Given the description of an element on the screen output the (x, y) to click on. 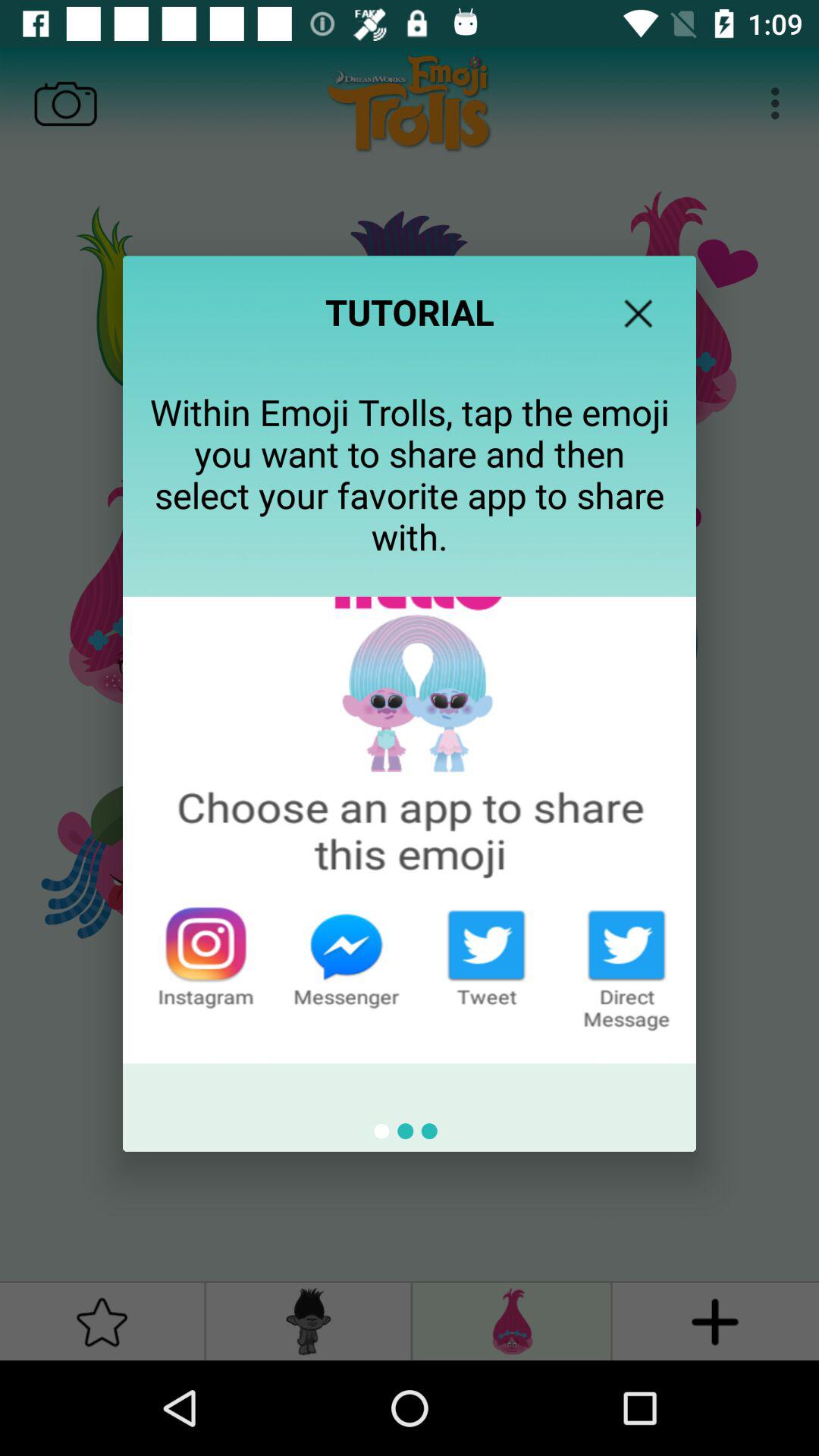
close pop-up (638, 313)
